Given the description of an element on the screen output the (x, y) to click on. 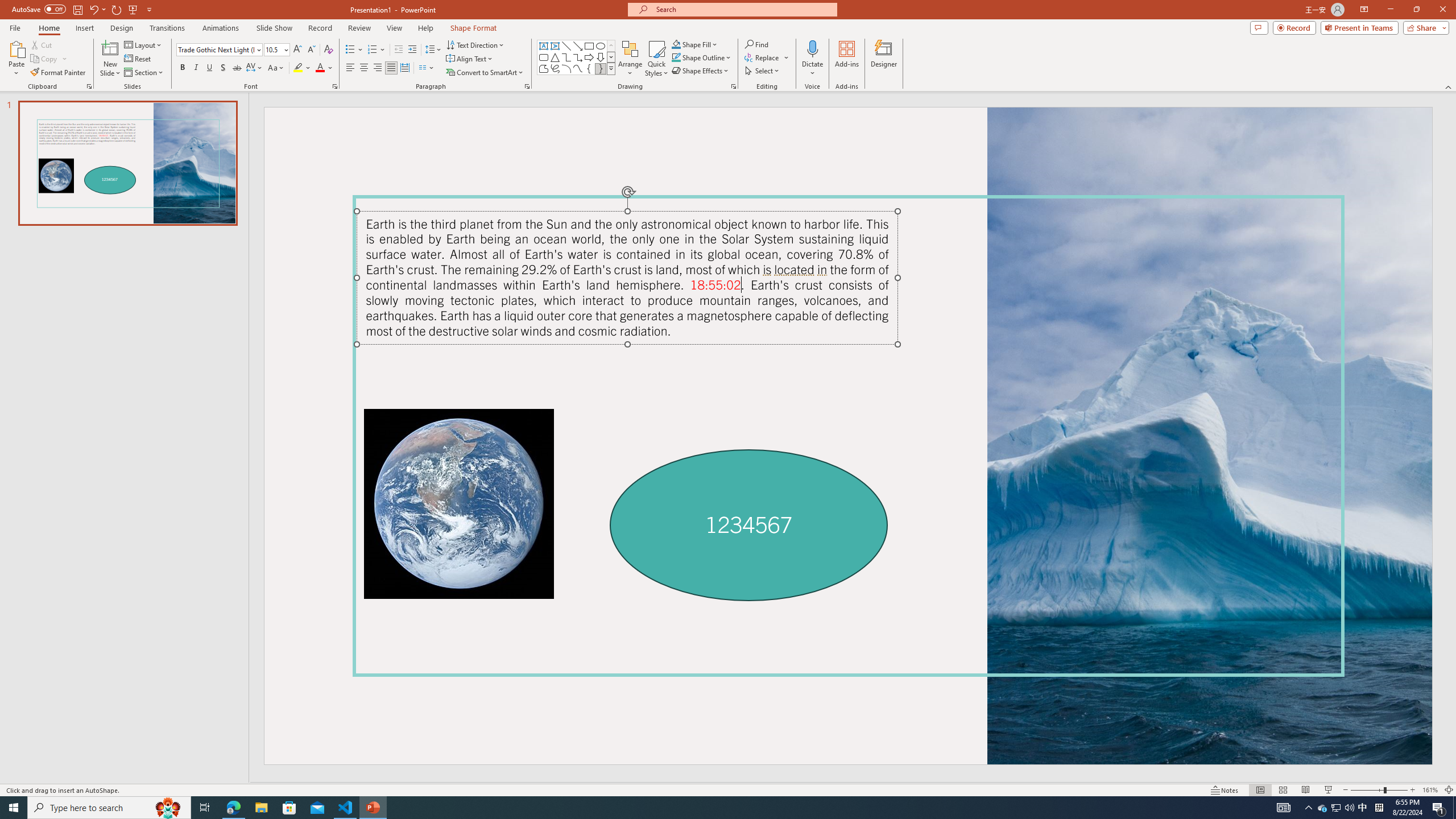
Oval (600, 45)
Underline (209, 67)
Office Clipboard... (88, 85)
Increase Font Size (297, 49)
Character Spacing (254, 67)
Decrease Indent (398, 49)
Shape Fill Aqua, Accent 2 (675, 44)
Find... (756, 44)
Cut (42, 44)
